Given the description of an element on the screen output the (x, y) to click on. 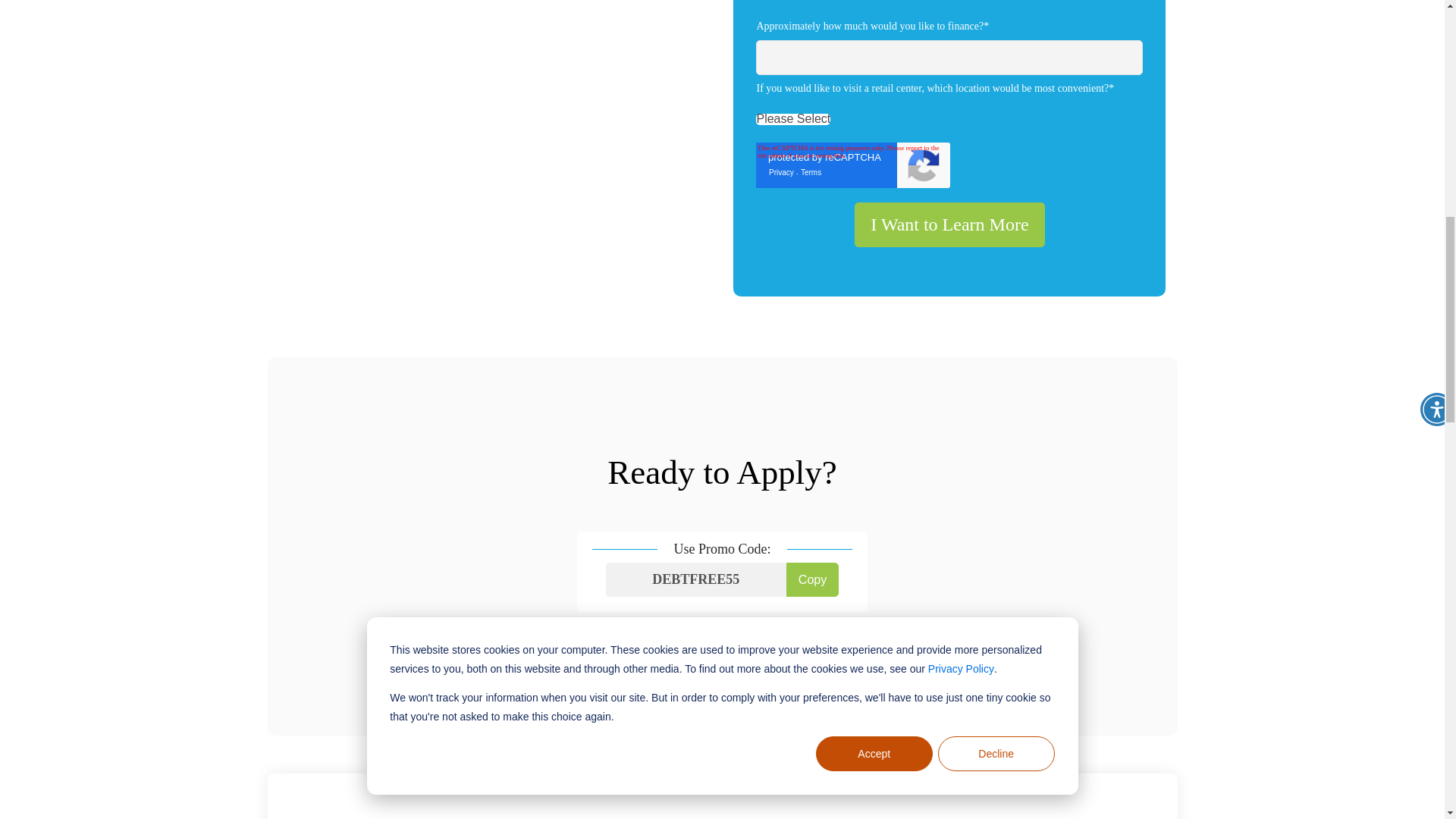
Copy (812, 579)
Please Select (792, 118)
Apply Now (649, 654)
About Us (795, 654)
DEBTFREE55 (695, 579)
